Given the description of an element on the screen output the (x, y) to click on. 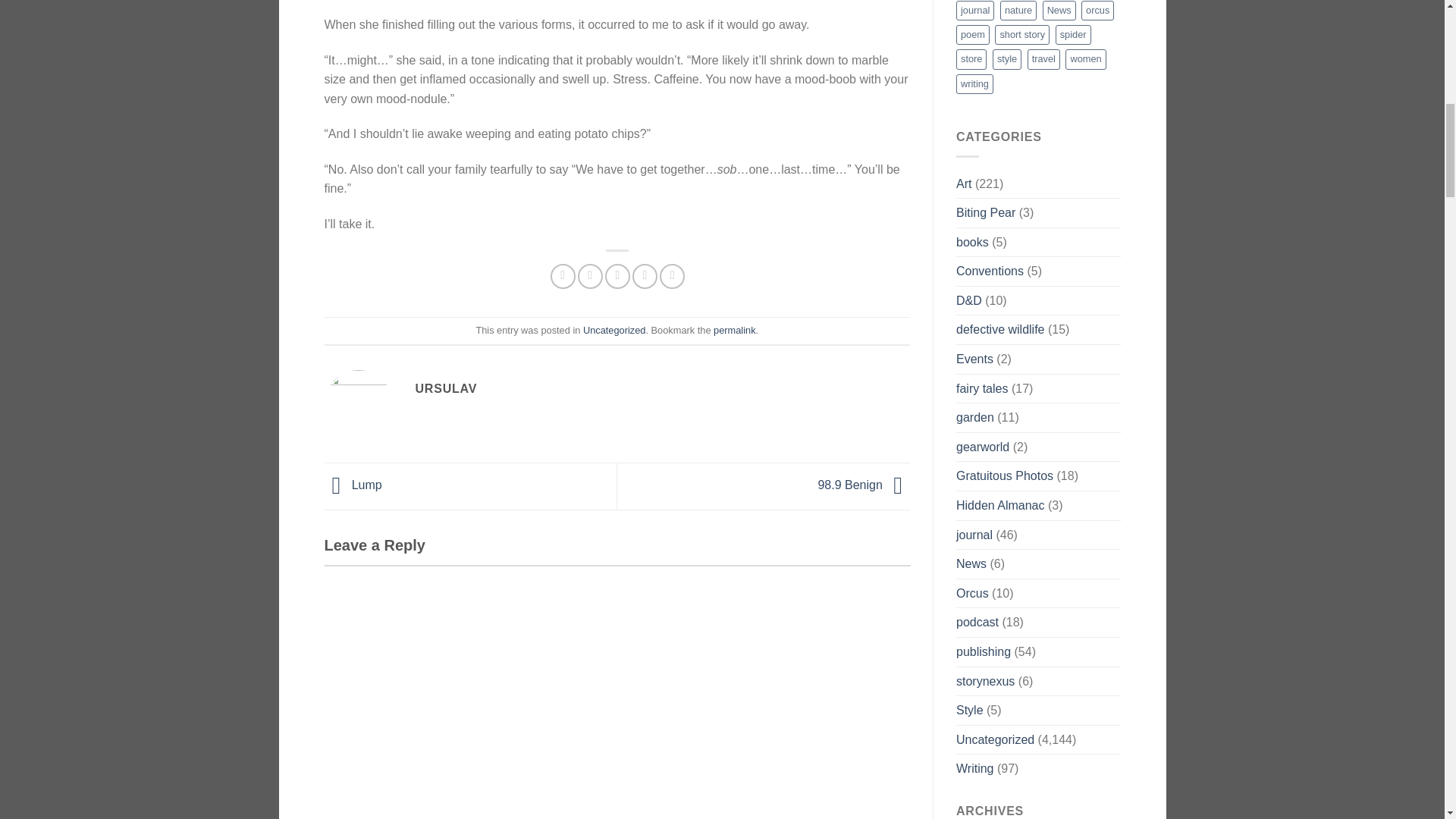
Lump (352, 484)
Permalink to 98.9 Benign (734, 329)
Pin on Pinterest (644, 276)
Share on LinkedIn (671, 276)
Uncategorized (614, 329)
permalink (734, 329)
Share on Facebook (562, 276)
Email to a Friend (617, 276)
Share on Twitter (590, 276)
